Given the description of an element on the screen output the (x, y) to click on. 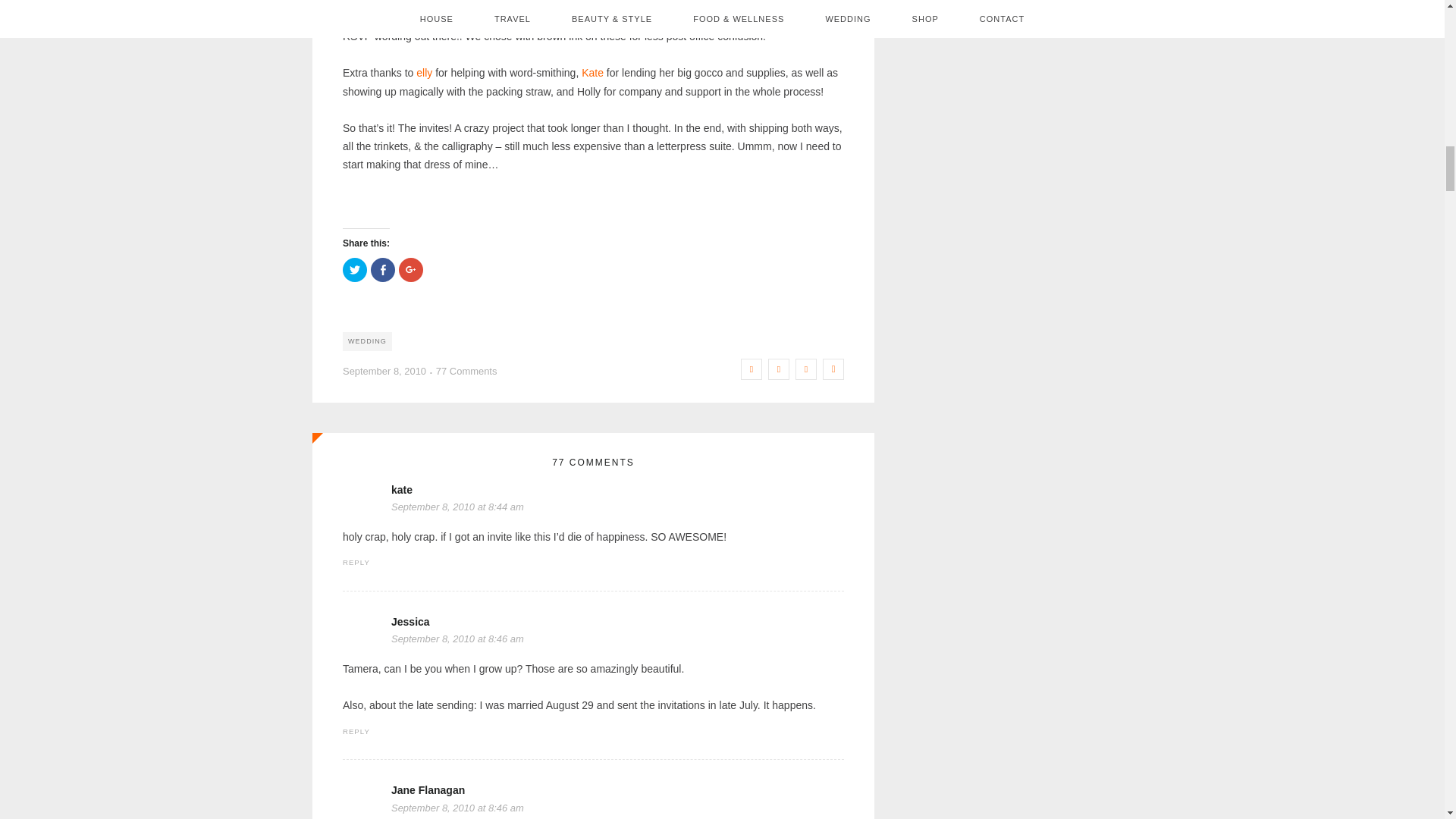
Click to share on Twitter (354, 269)
WEDDING (366, 341)
Click to share on Facebook (382, 269)
elly (424, 72)
77 Comments (466, 370)
Kate (592, 72)
September 8, 2010 (384, 370)
